Given the description of an element on the screen output the (x, y) to click on. 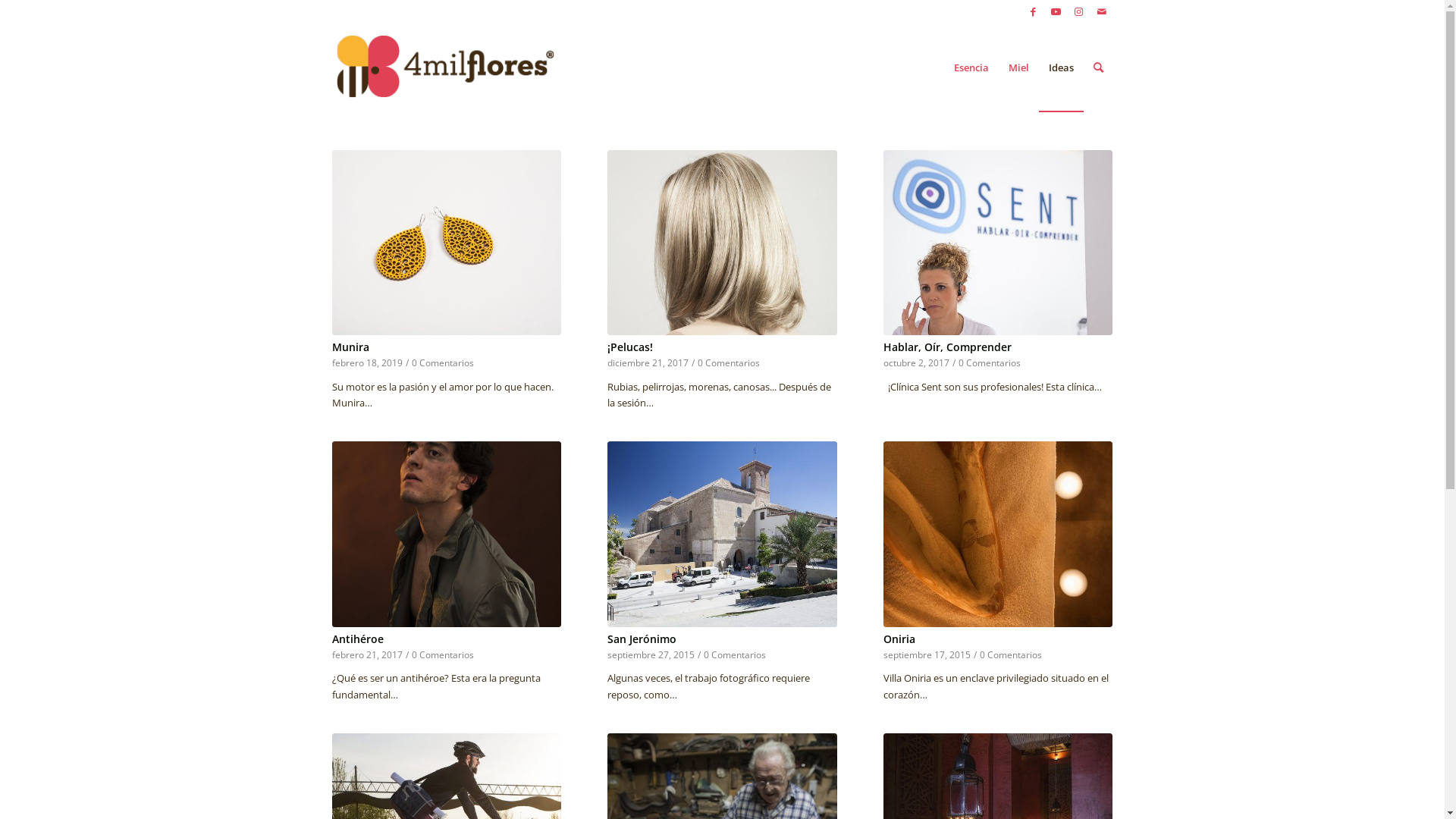
Ideas Element type: text (1060, 67)
Esencia Element type: text (970, 67)
Oniria Element type: text (899, 638)
Miel Element type: text (1017, 67)
0 Comentarios Element type: text (989, 362)
0 Comentarios Element type: text (442, 362)
0 Comentarios Element type: text (1010, 654)
0 Comentarios Element type: text (728, 362)
Munira Element type: text (350, 346)
Instagram Element type: hover (1078, 11)
Oniria Element type: hover (997, 533)
Munira Element type: hover (446, 242)
Facebook Element type: hover (1033, 11)
0 Comentarios Element type: text (442, 654)
Youtube Element type: hover (1055, 11)
Mail Element type: hover (1101, 11)
0 Comentarios Element type: text (734, 654)
